Given the description of an element on the screen output the (x, y) to click on. 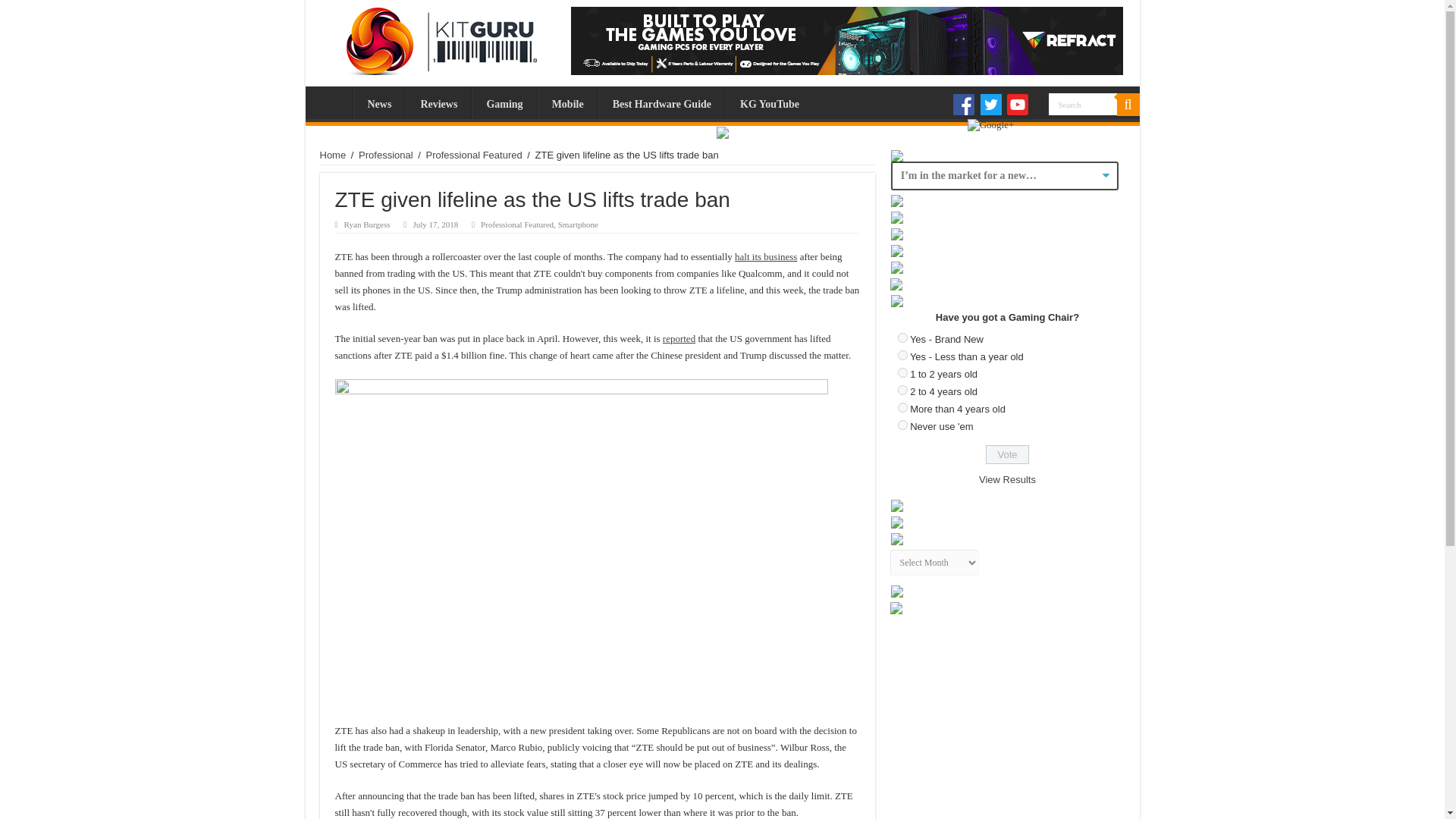
halt its business (765, 256)
KG YouTube (768, 101)
KitGuru (437, 37)
Search (1082, 104)
reported (678, 337)
1374 (902, 355)
Mobile (566, 101)
1375 (902, 372)
1377 (902, 407)
Professional Featured (516, 224)
Home (332, 101)
Smartphone (577, 224)
Search (1127, 104)
Reviews (438, 101)
News (379, 101)
